Given the description of an element on the screen output the (x, y) to click on. 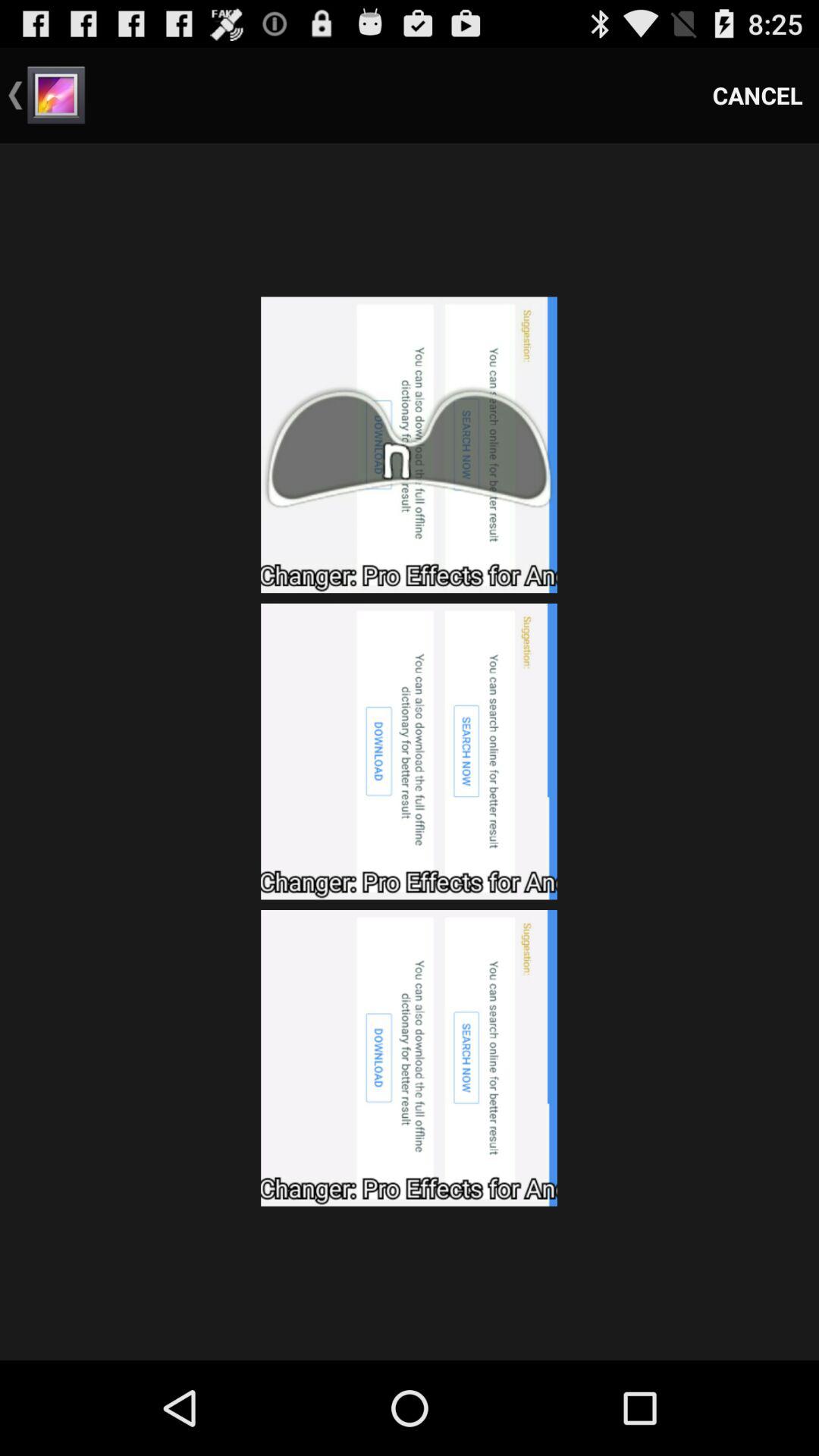
select the icon at the top right corner (757, 95)
